Given the description of an element on the screen output the (x, y) to click on. 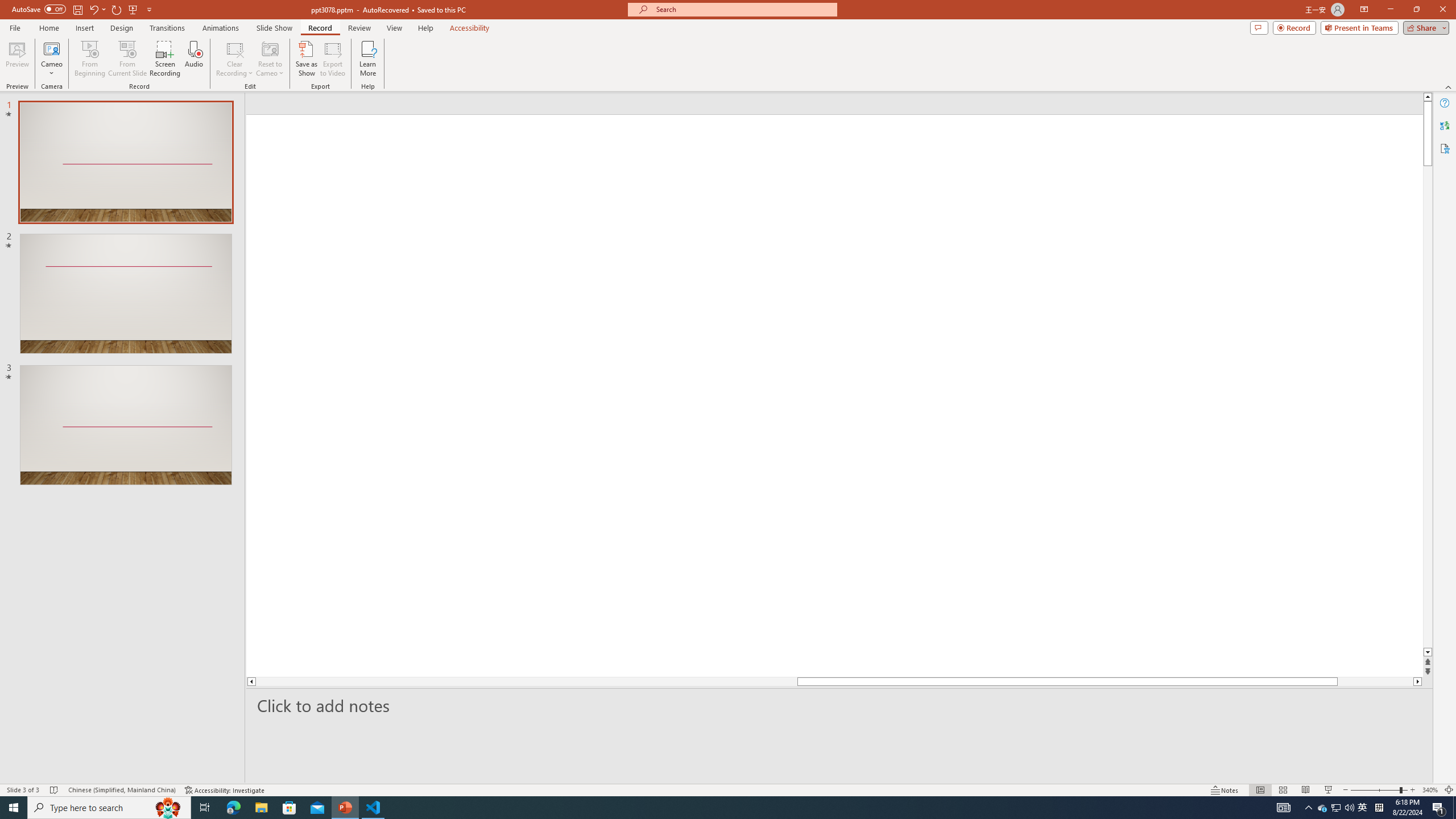
Learn More (368, 58)
Reset to Cameo (269, 58)
Screen Recording (165, 58)
Save as Show (306, 58)
